Given the description of an element on the screen output the (x, y) to click on. 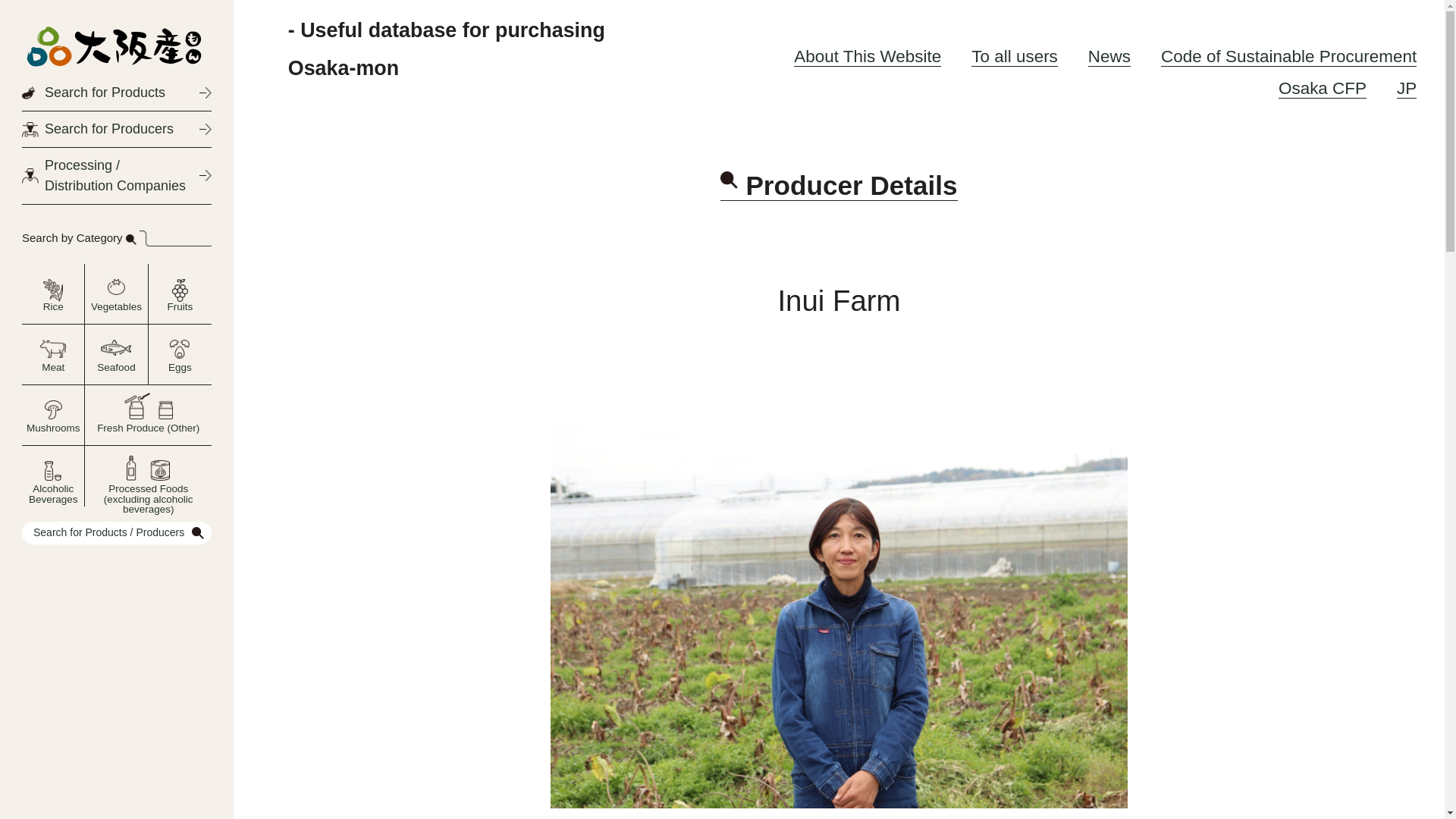
Search for Products (116, 93)
Mushrooms (53, 415)
To all users (1014, 56)
Fruits (180, 293)
Alcoholic Beverages (53, 475)
Meat (53, 354)
About This Website (866, 56)
Osaka CFP (1322, 88)
Code of Sustainable Procurement (1288, 56)
News (1109, 56)
